Given the description of an element on the screen output the (x, y) to click on. 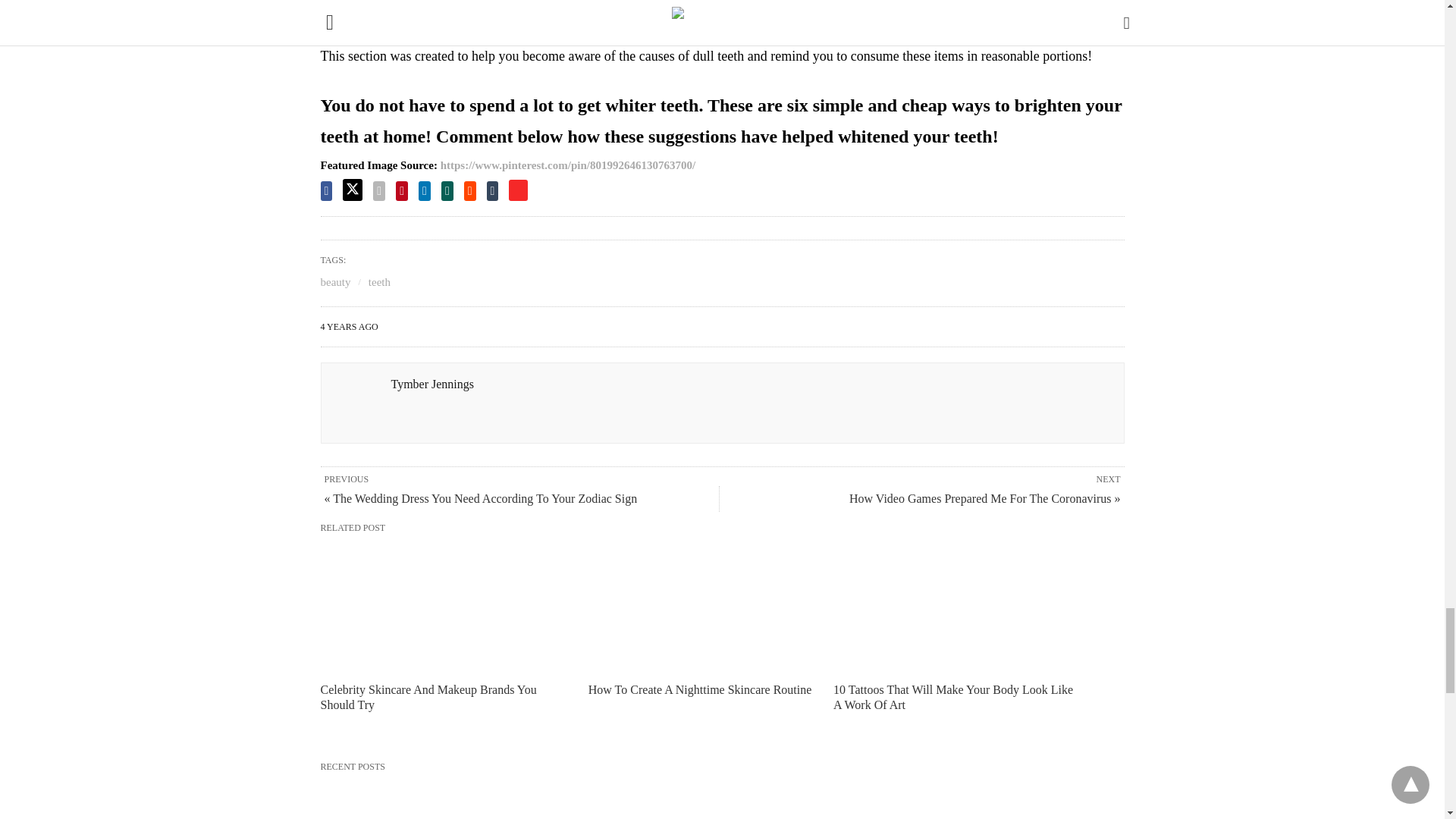
beauty (335, 282)
How To Create A Nighttime Skincare Routine (710, 607)
10 CSUN Instagram Accounts You Need To Follow (446, 799)
10 Tattoos That Will Make Your Body Look Like A Work Of Art (955, 607)
teeth (379, 282)
flipboard share (517, 189)
10 Tattoos That Will Make Your Body Look Like A Work Of Art (952, 696)
How To Create A Nighttime Skincare Routine (700, 688)
Celebrity Skincare And Makeup Brands You Should Try (427, 696)
Celebrity Skincare And Makeup Brands You Should Try (442, 607)
